Given the description of an element on the screen output the (x, y) to click on. 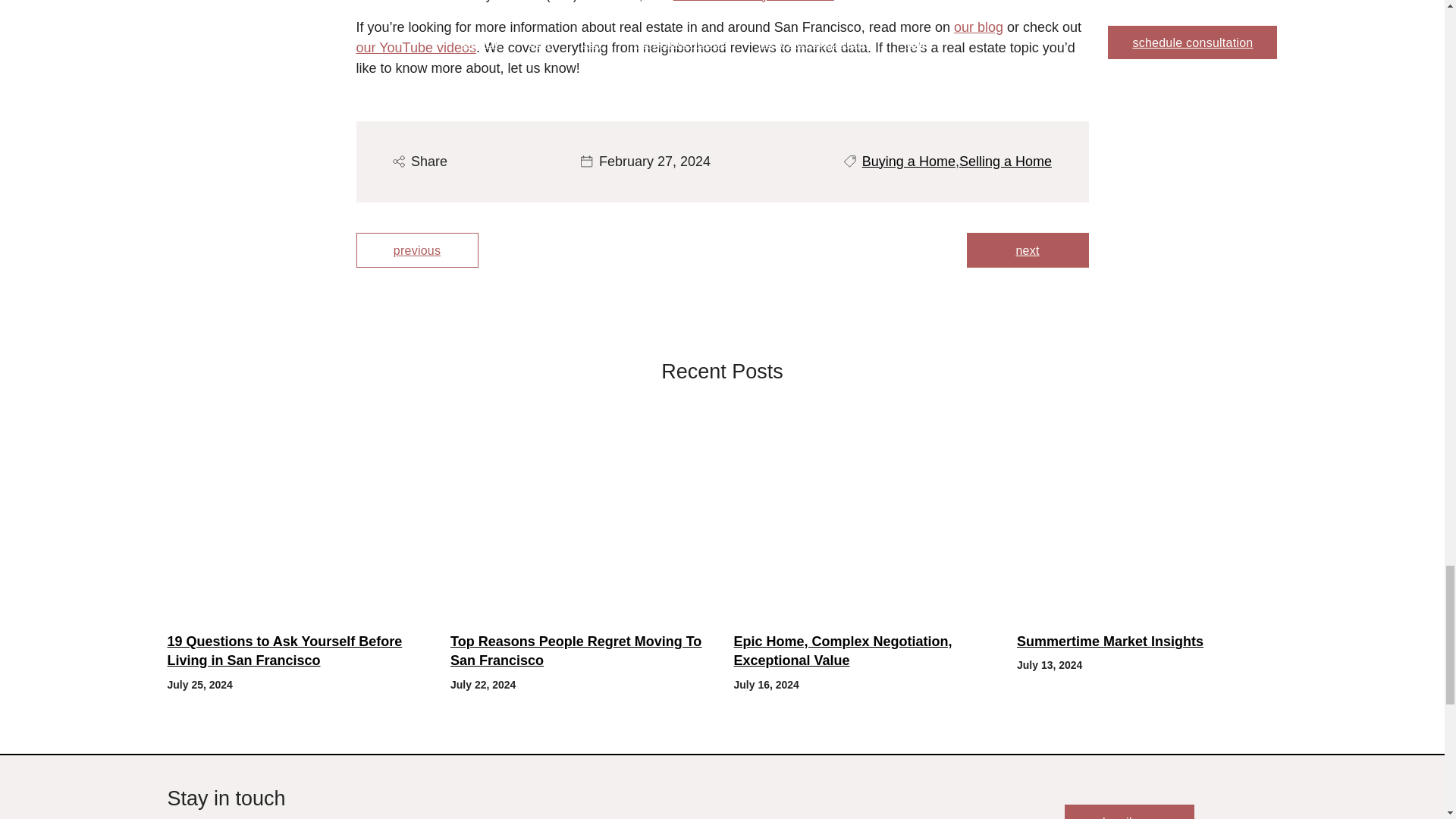
Epic Home, Complex Negotiation, Exceptional Value (863, 651)
previous (417, 249)
Buying a Home (908, 161)
our blog (978, 27)
Selling a Home (1005, 161)
next (1026, 249)
19 Questions to Ask Yourself Before Living in San Francisco (297, 651)
our YouTube videos (416, 47)
subscribe to my newsletter (753, 1)
Top Reasons People Regret Moving To San Francisco (580, 651)
